Given the description of an element on the screen output the (x, y) to click on. 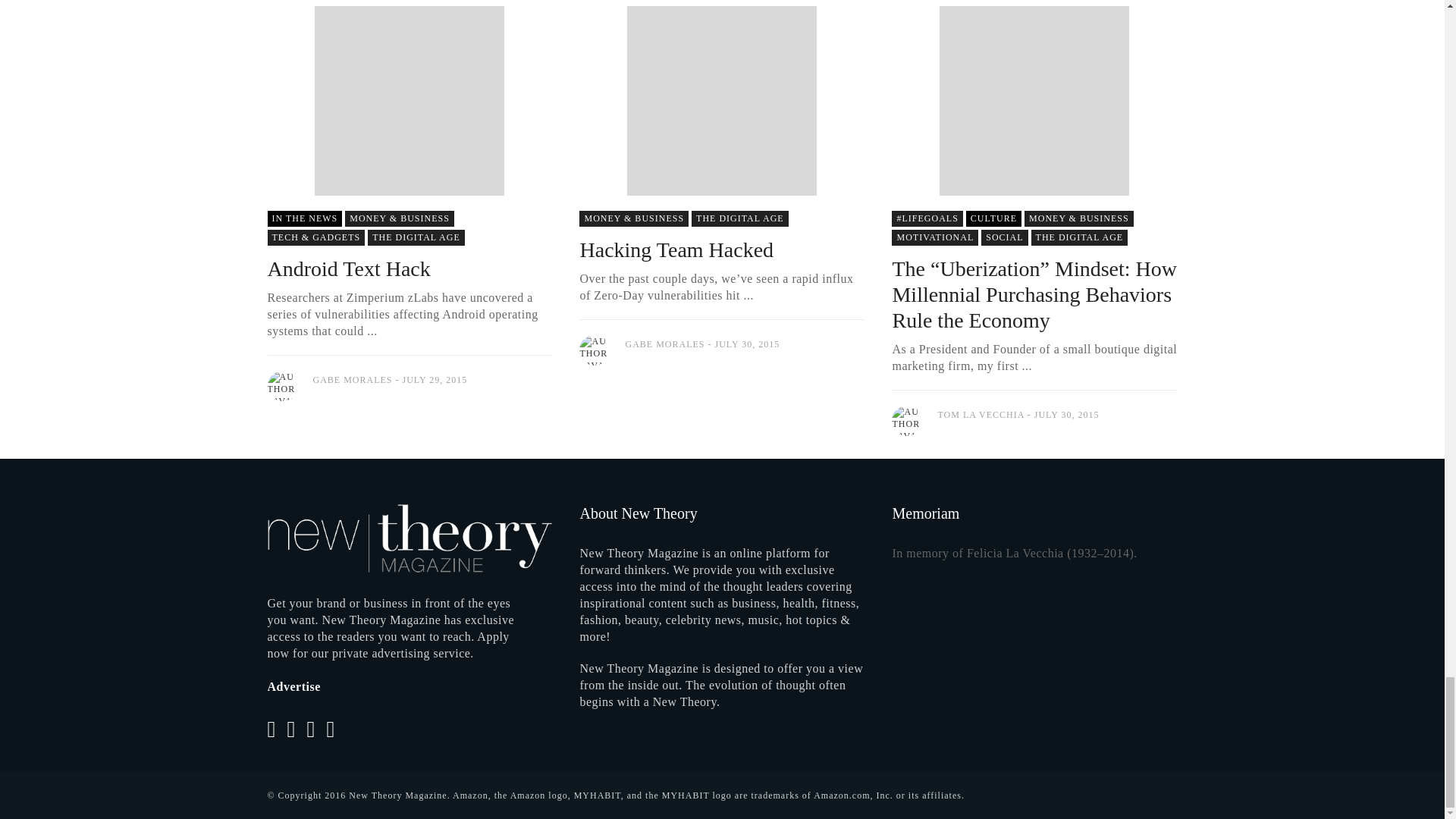
View all posts in 152 (1079, 237)
View all posts in 145 (1004, 237)
View all posts in 144 (399, 218)
View all posts in 152 (740, 218)
View all posts in 155 (315, 237)
View all posts in 144 (633, 218)
View all posts in 152 (416, 237)
View all posts in 144 (1079, 218)
View all posts in 158 (994, 218)
View all posts in 153 (304, 218)
View all posts in 143 (926, 218)
View all posts in 154 (934, 237)
